Given the description of an element on the screen output the (x, y) to click on. 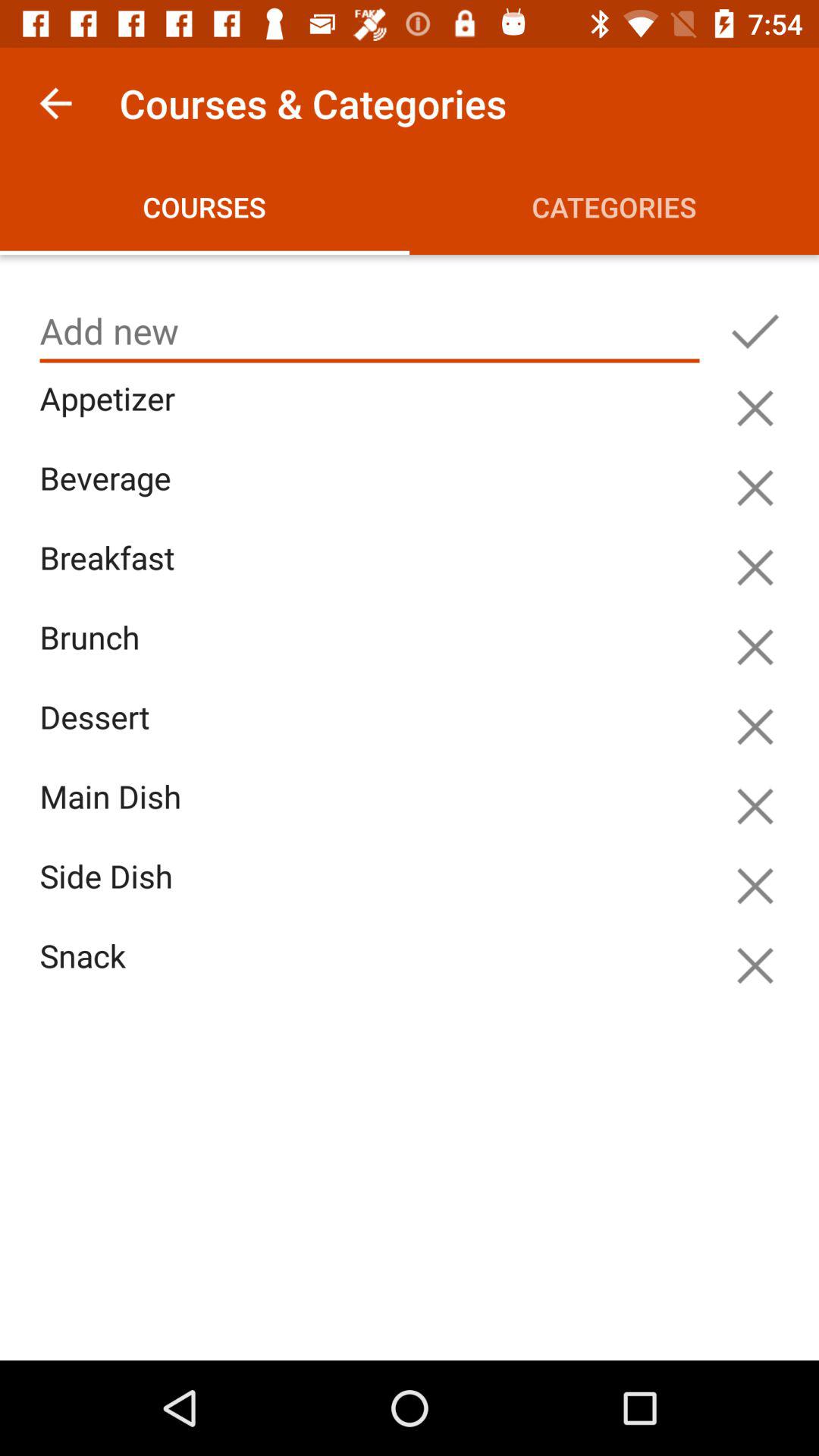
close appetizer option (755, 408)
